Given the description of an element on the screen output the (x, y) to click on. 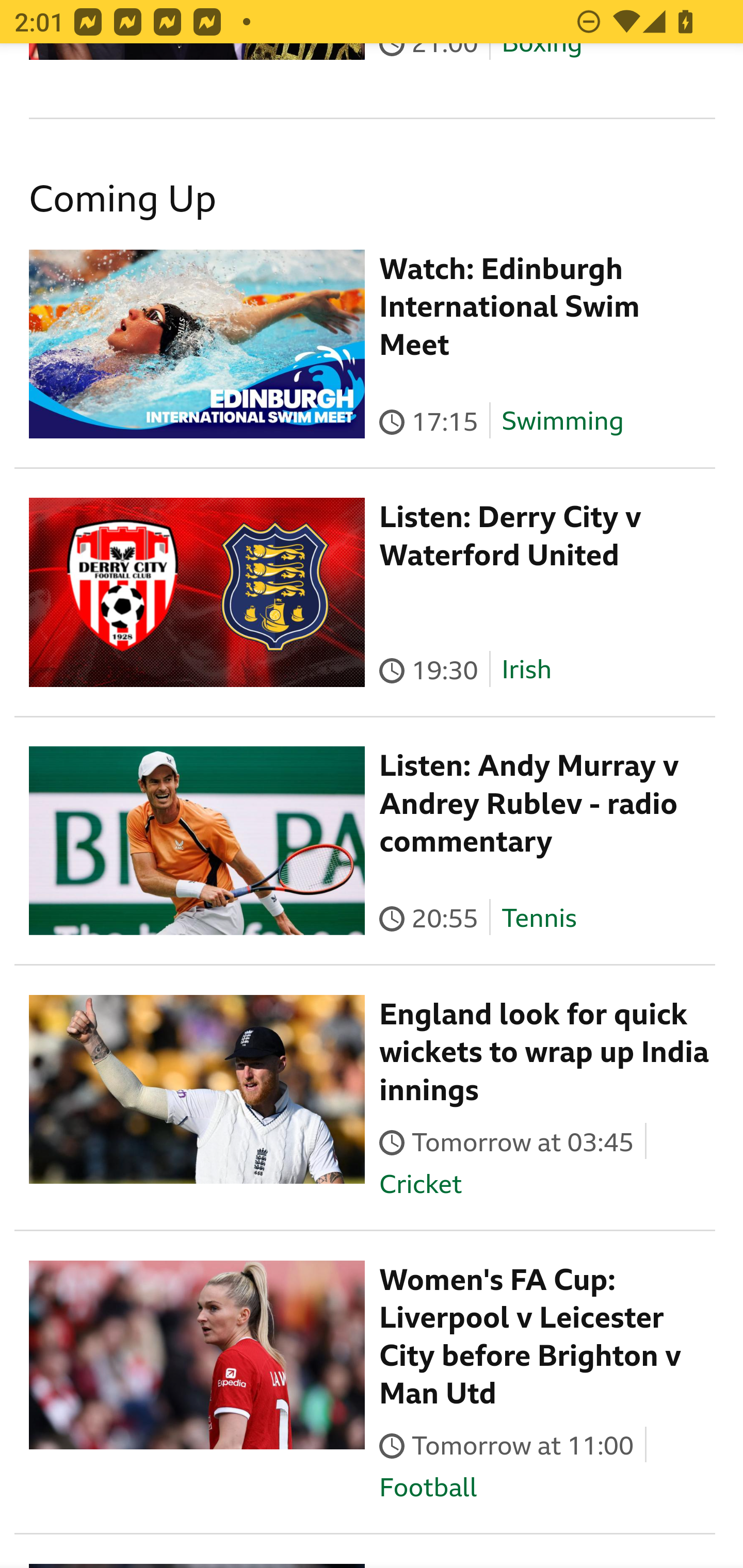
Watch: Edinburgh International Swim Meet (509, 306)
Swimming (562, 421)
Listen: Derry City v Waterford United (510, 536)
Irish (526, 669)
Tennis (539, 917)
Cricket (420, 1183)
Football (428, 1486)
